Given the description of an element on the screen output the (x, y) to click on. 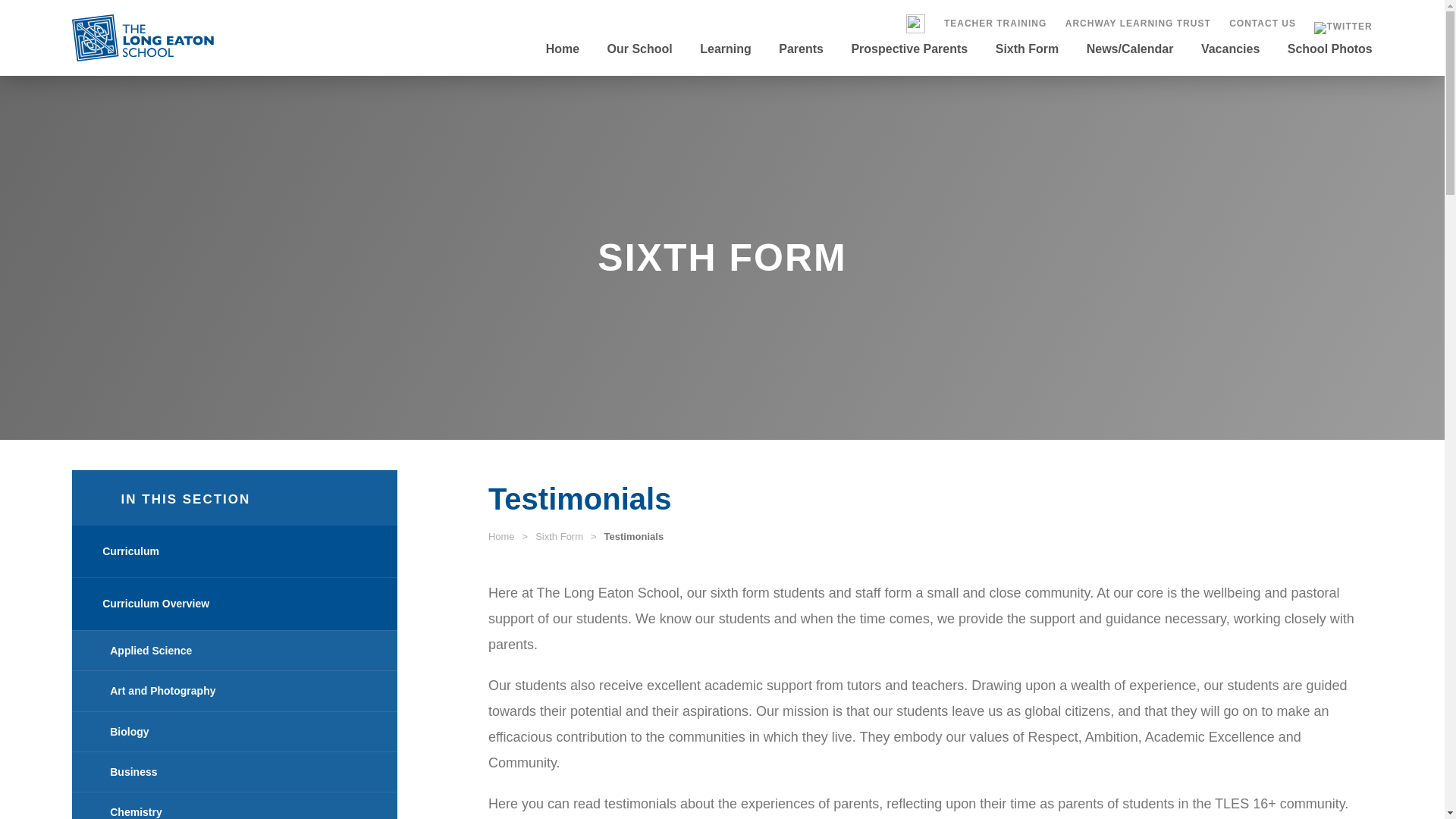
ARCHWAY LEARNING TRUST (1138, 22)
Home (568, 66)
CONTACT US (1262, 22)
Sixth Form (559, 536)
Our School (639, 66)
Home (501, 536)
TEACHER TRAINING (995, 22)
Learning (724, 66)
Testimonials (633, 536)
